Given the description of an element on the screen output the (x, y) to click on. 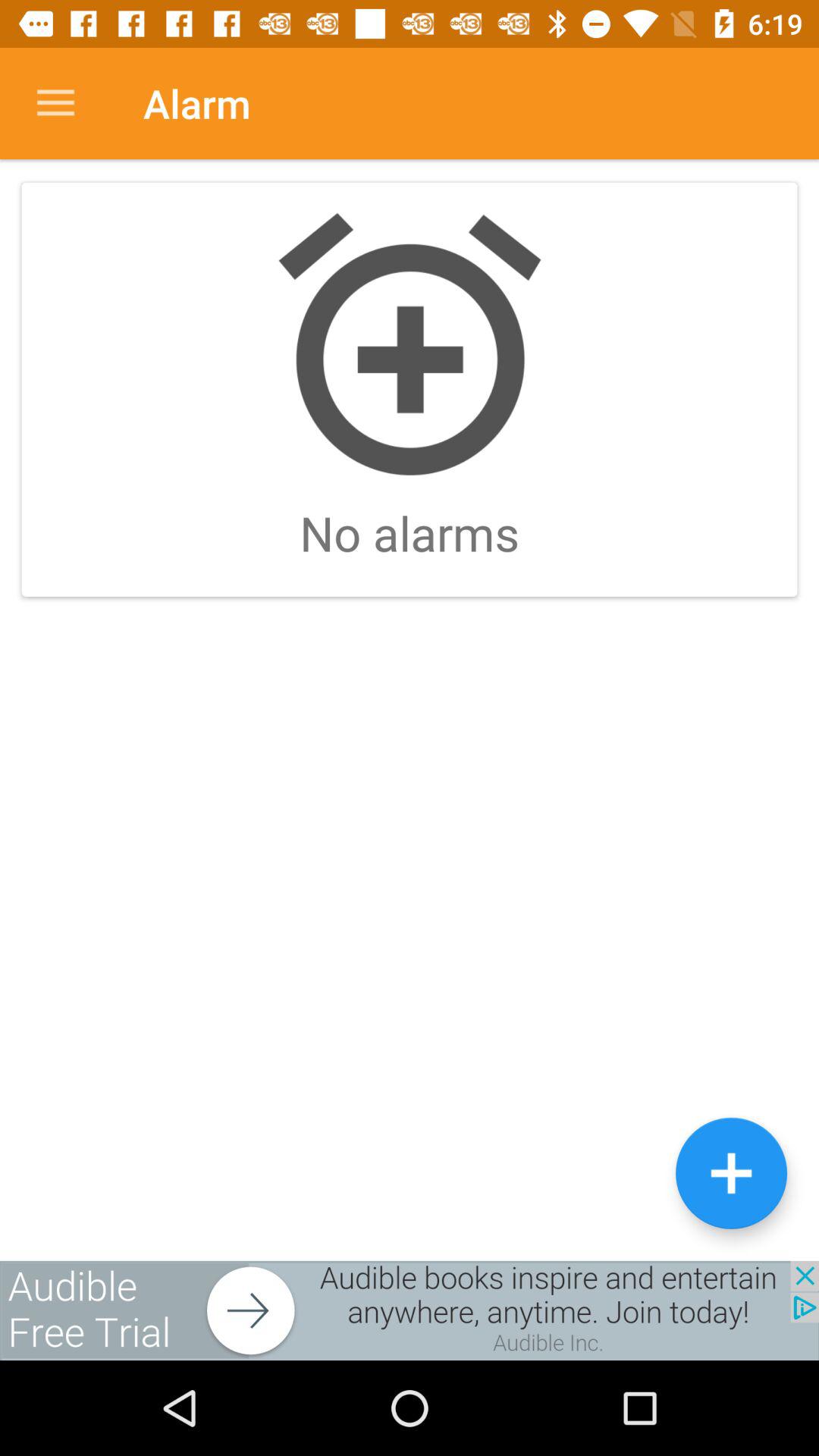
access free audible trial (409, 1310)
